Given the description of an element on the screen output the (x, y) to click on. 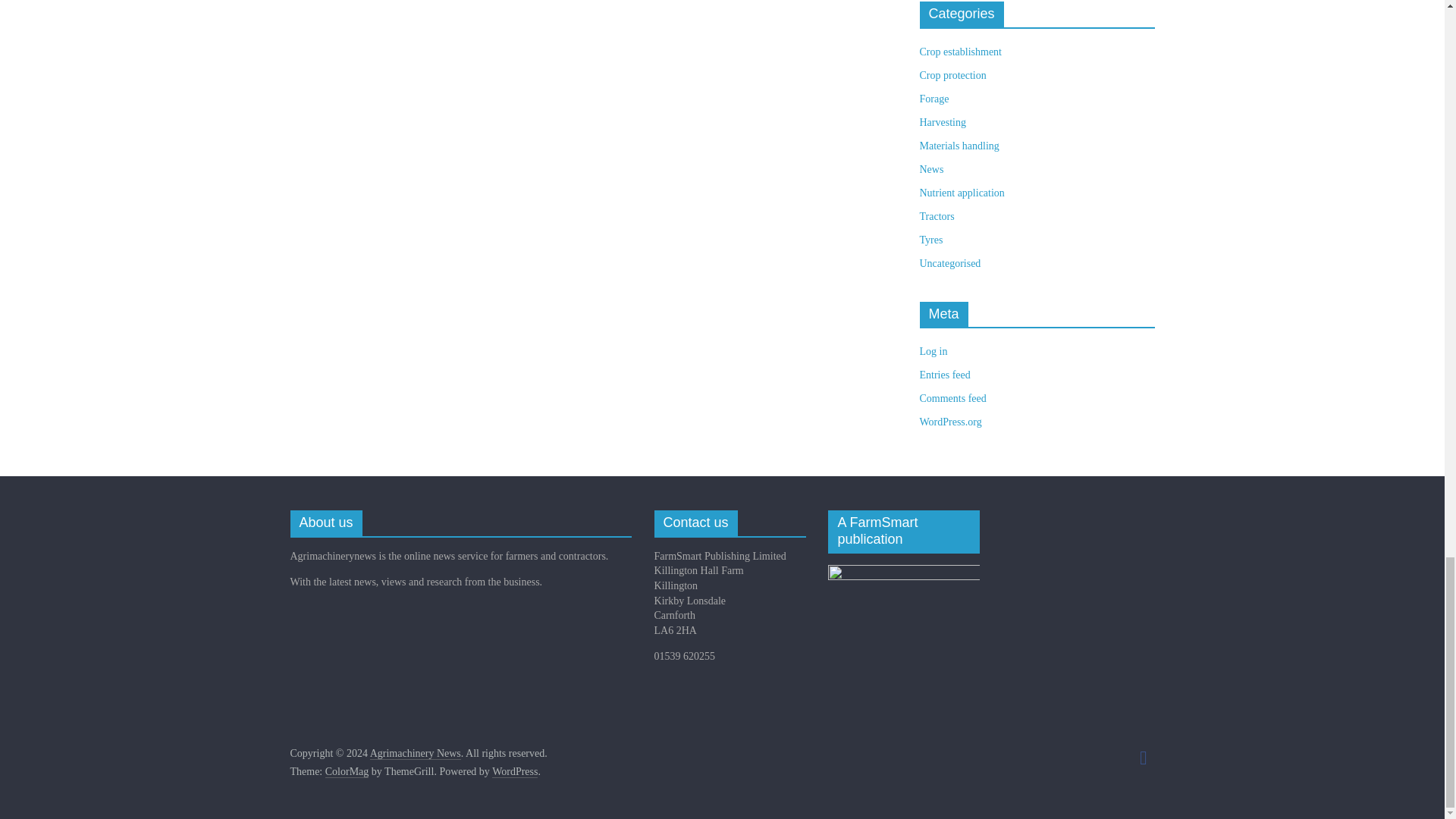
WordPress (514, 771)
Agrimachinery News (415, 753)
ColorMag (346, 771)
